Given the description of an element on the screen output the (x, y) to click on. 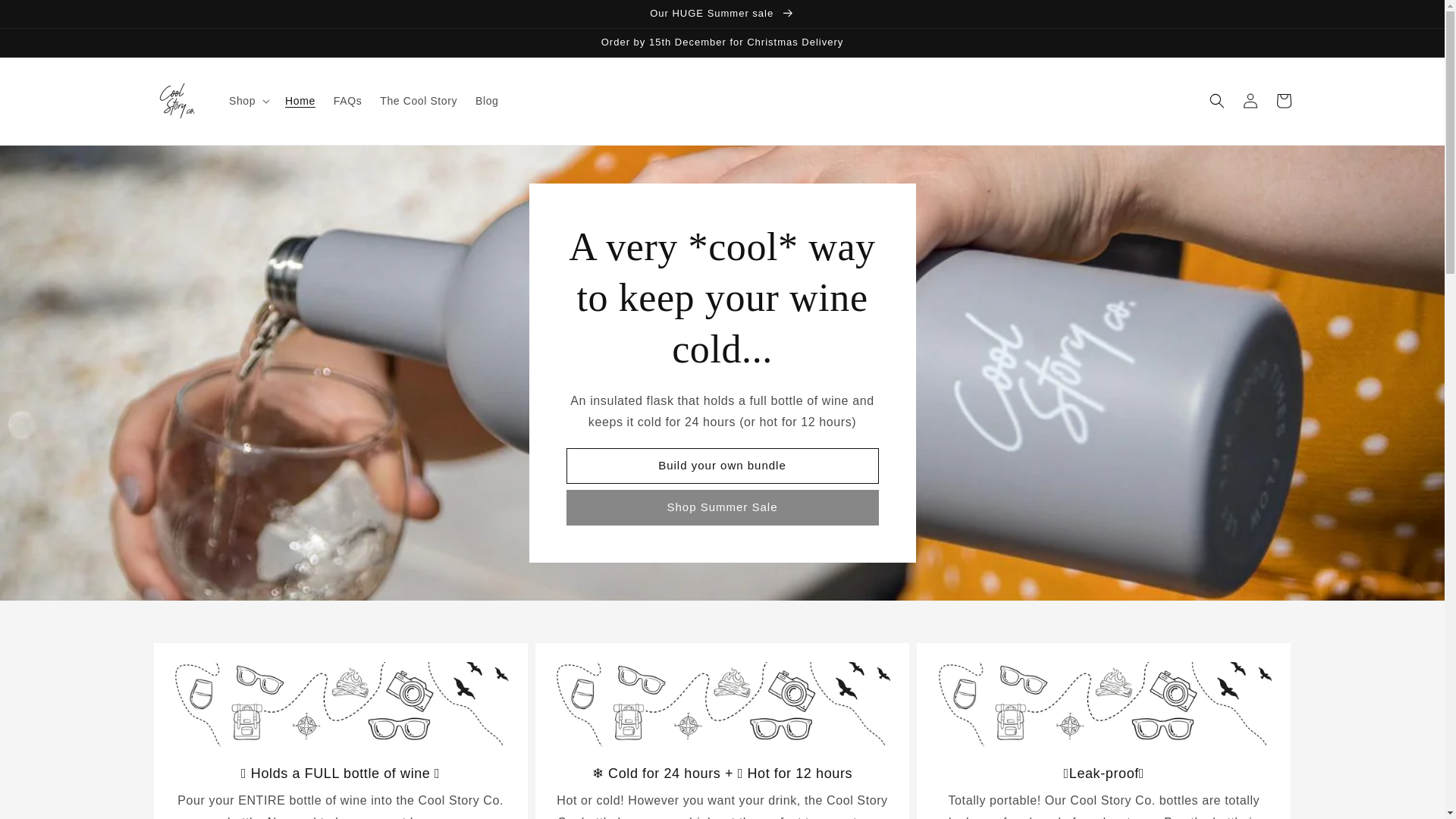
FAQs (347, 101)
Cart (1283, 100)
Home (300, 101)
Shop Summer Sale (722, 507)
The Cool Story (418, 101)
Blog (485, 101)
Skip to content (45, 16)
Build your own bundle (722, 465)
Log in (1249, 100)
